Given the description of an element on the screen output the (x, y) to click on. 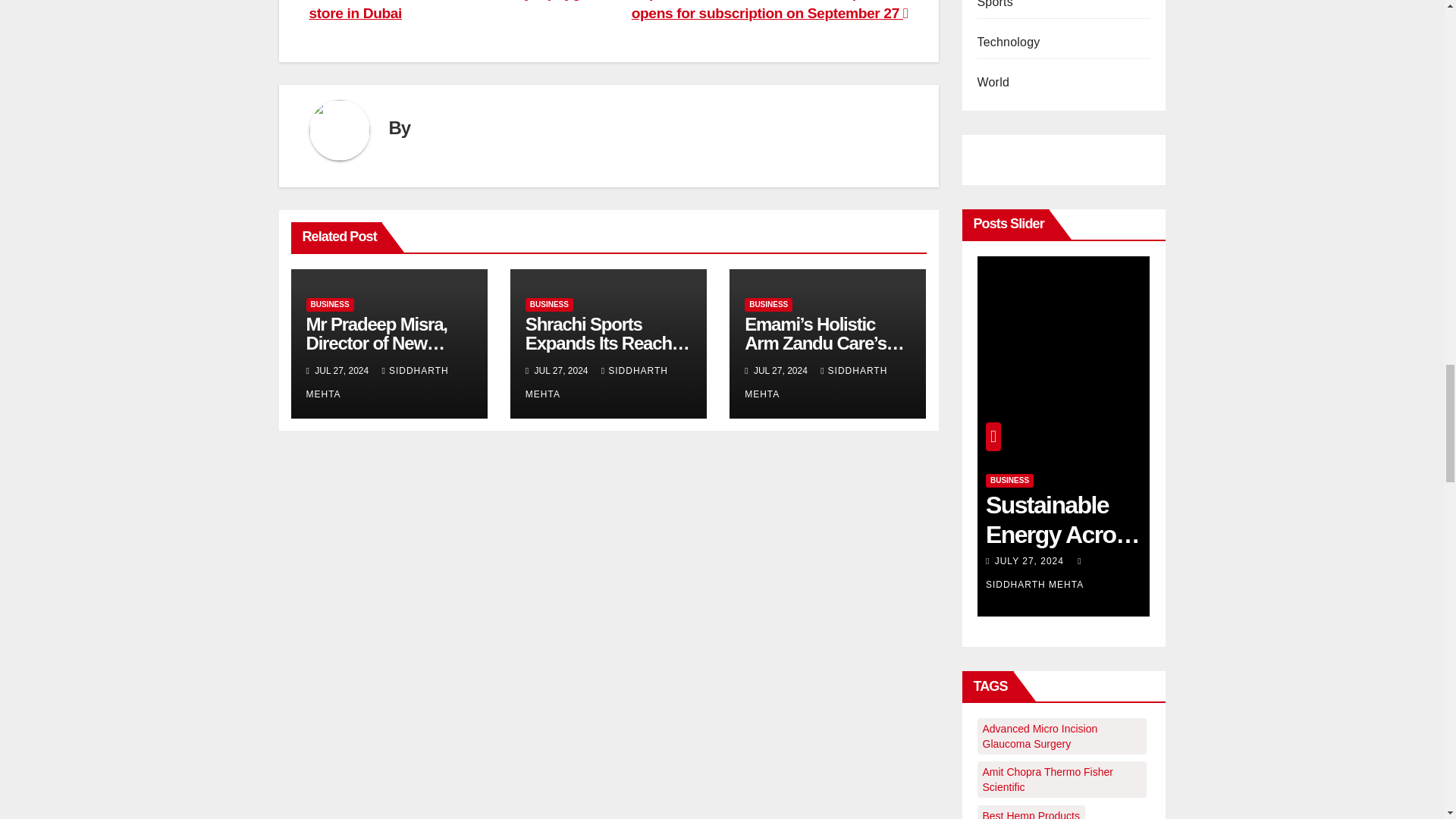
BUSINESS (768, 305)
BUSINESS (549, 305)
SIDDHARTH MEHTA (596, 382)
SIDDHARTH MEHTA (815, 382)
BUSINESS (329, 305)
SIDDHARTH MEHTA (376, 382)
